Given the description of an element on the screen output the (x, y) to click on. 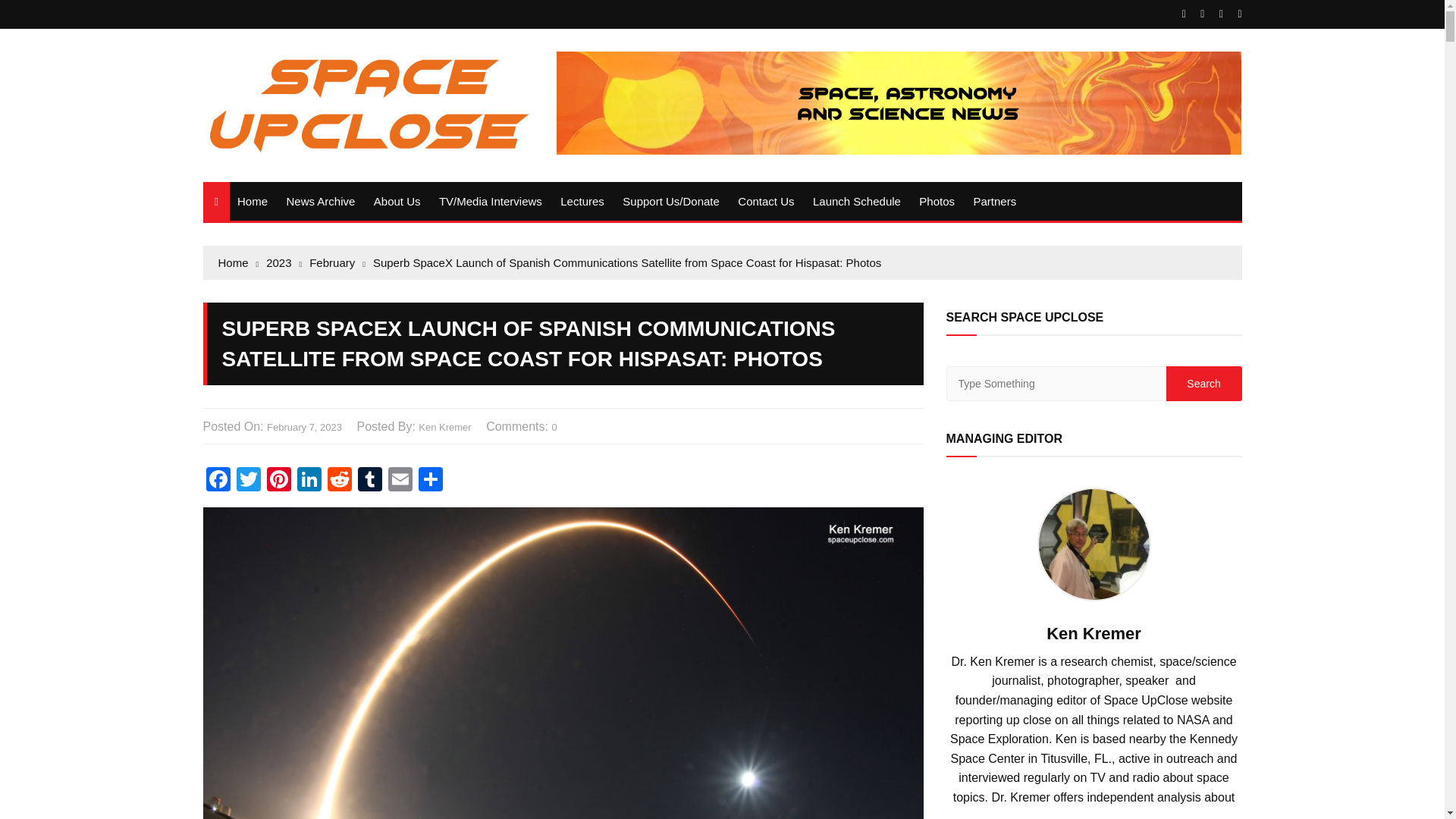
February 7, 2023 (304, 427)
Email (399, 480)
Reddit (339, 480)
Tumblr (370, 480)
Photos (936, 200)
About Us (397, 200)
Facebook (217, 480)
Search (1203, 383)
Home (238, 262)
Share (429, 480)
LinkedIn (309, 480)
February (336, 262)
Facebook (217, 480)
2023 (283, 262)
Home (252, 200)
